Given the description of an element on the screen output the (x, y) to click on. 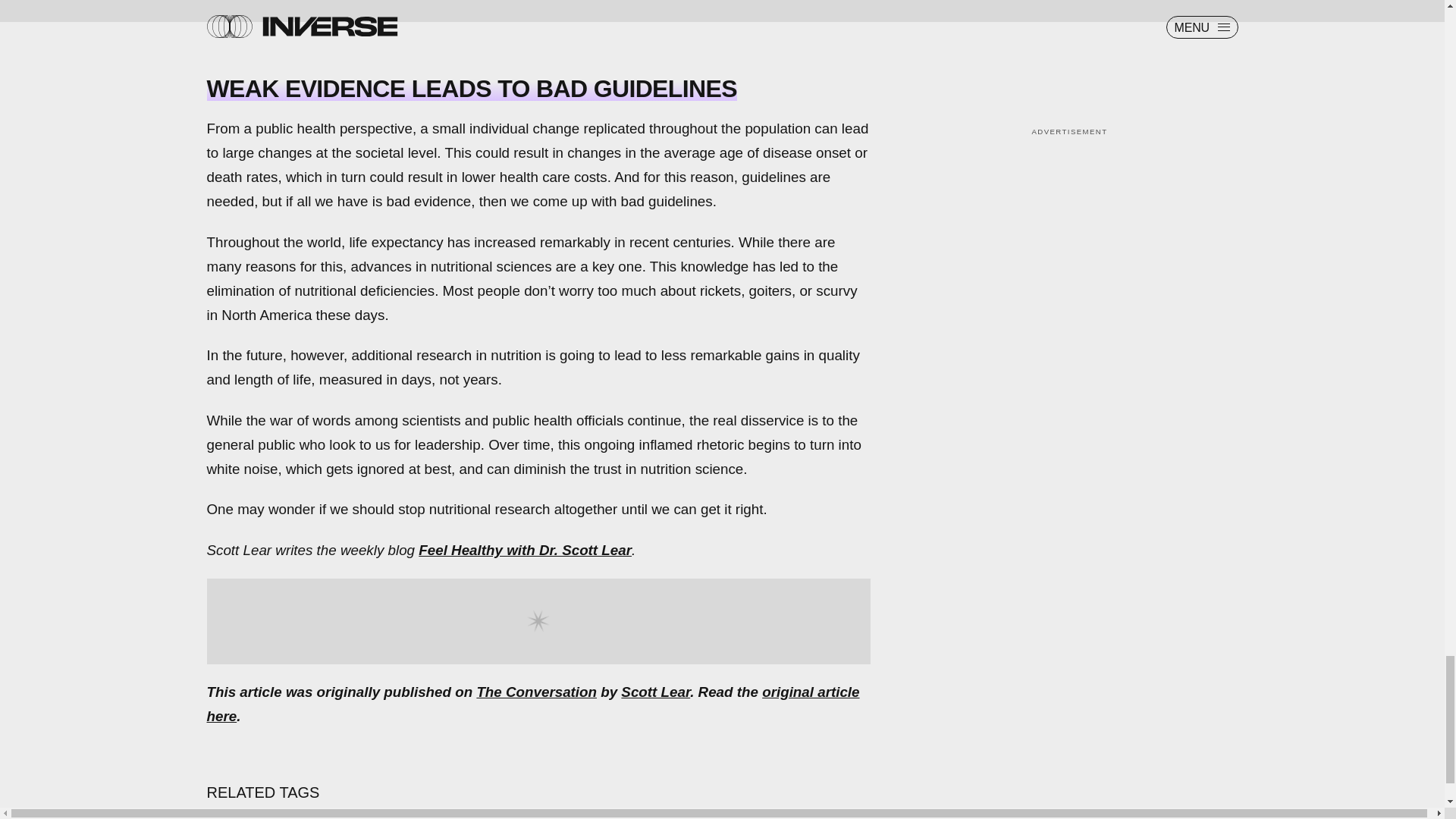
Scott Lear (655, 691)
The Conversation (536, 691)
Feel Healthy with Dr. Scott Lear (525, 549)
FOOD (328, 816)
original article here (532, 703)
HEALTH (246, 816)
